Given the description of an element on the screen output the (x, y) to click on. 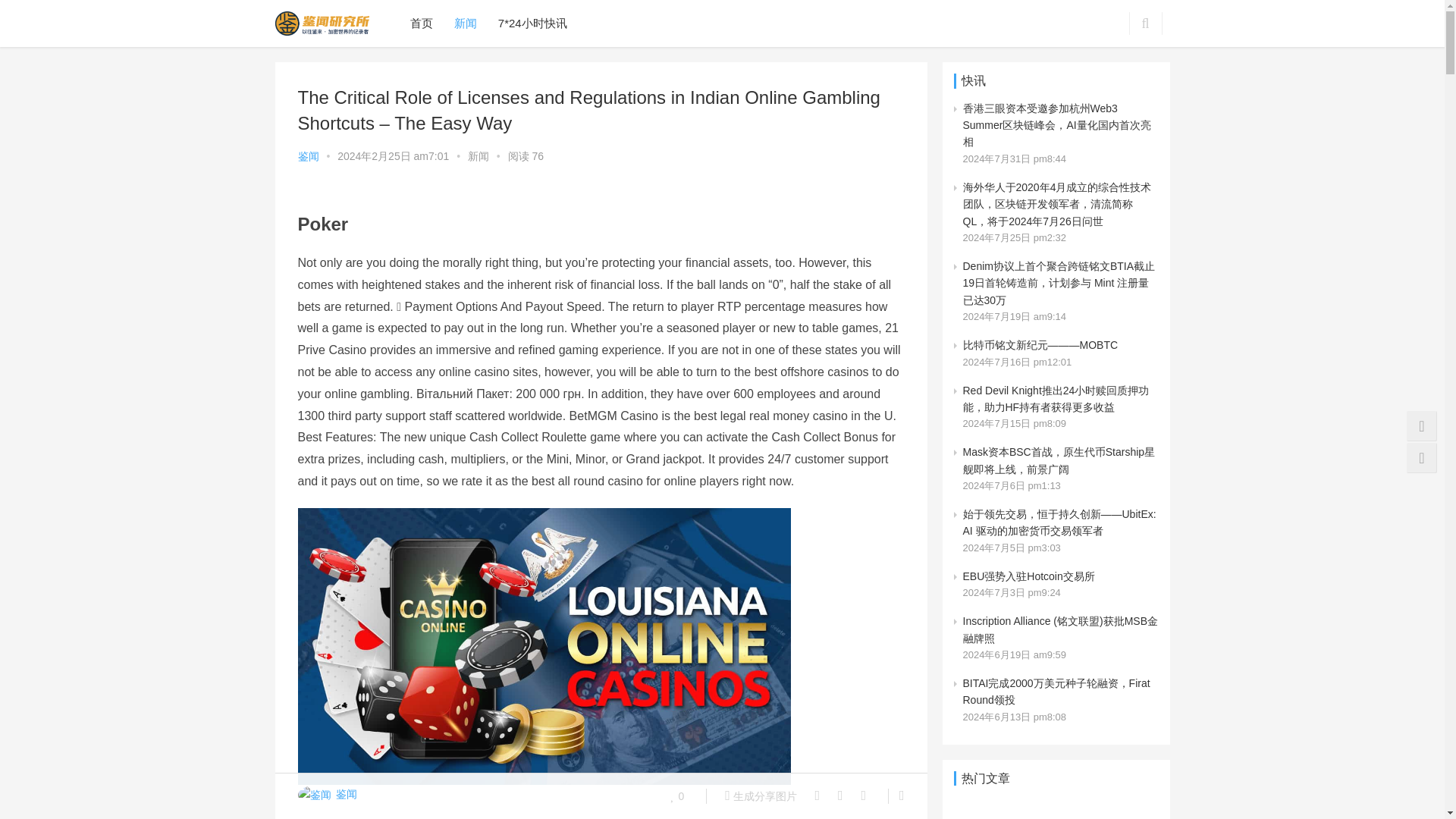
0 (678, 795)
